Given the description of an element on the screen output the (x, y) to click on. 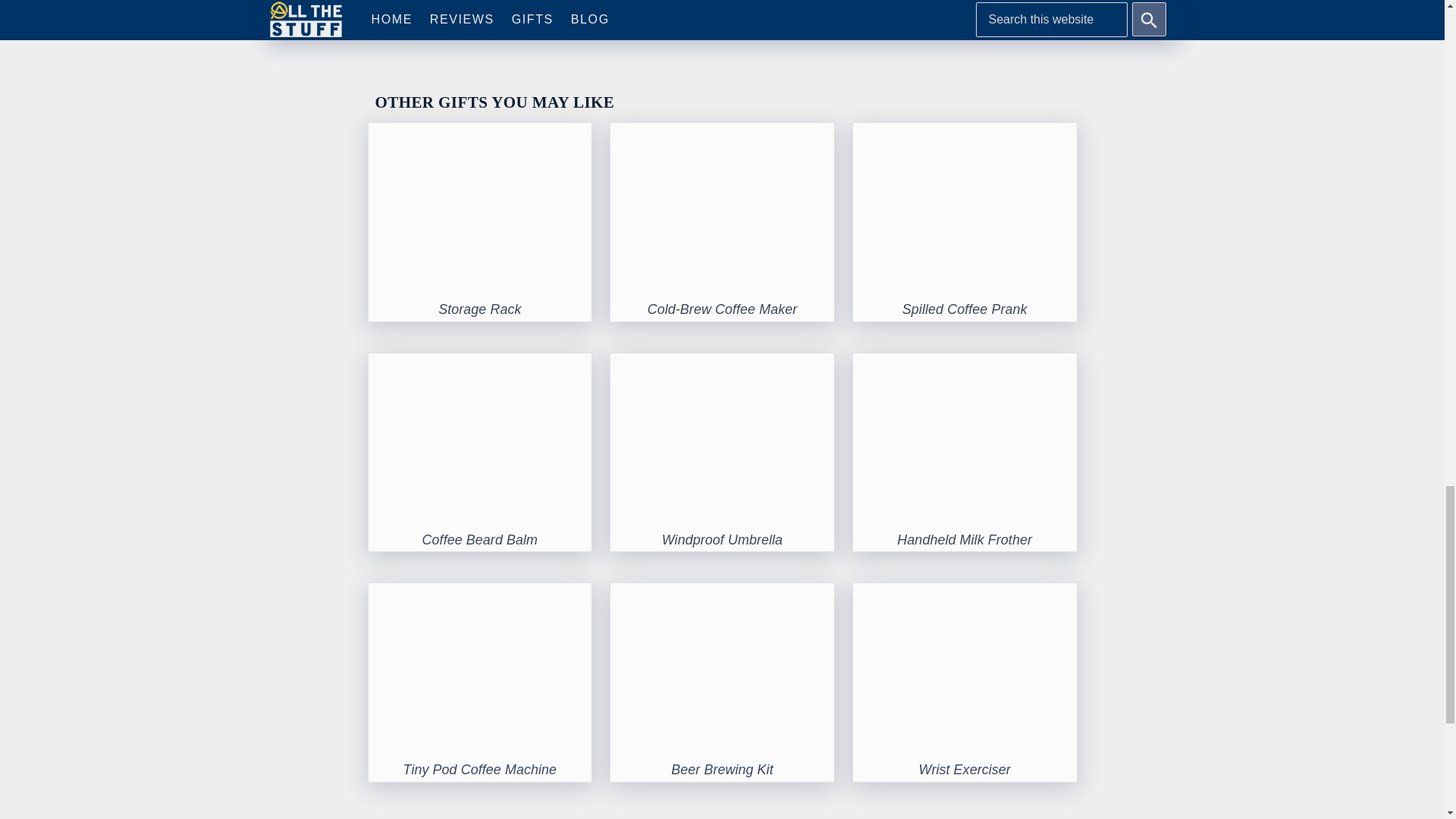
Permanent Link to Windproof Umbrella (722, 539)
Permanent Link to Coffee Beard Balm (480, 365)
Permanent Link to Tiny Pod Coffee Machine (480, 595)
Permanent Link to Spilled Coffee Prank (965, 135)
Permanent Link to Beer Brewing Kit (722, 769)
Permanent Link to Spilled Coffee Prank (964, 309)
Permanent Link to Wrist Exerciser (964, 769)
Permanent Link to Storage Rack (480, 135)
Permanent Link to Handheld Milk Frother (965, 365)
Permanent Link to Storage Rack (479, 309)
